Given the description of an element on the screen output the (x, y) to click on. 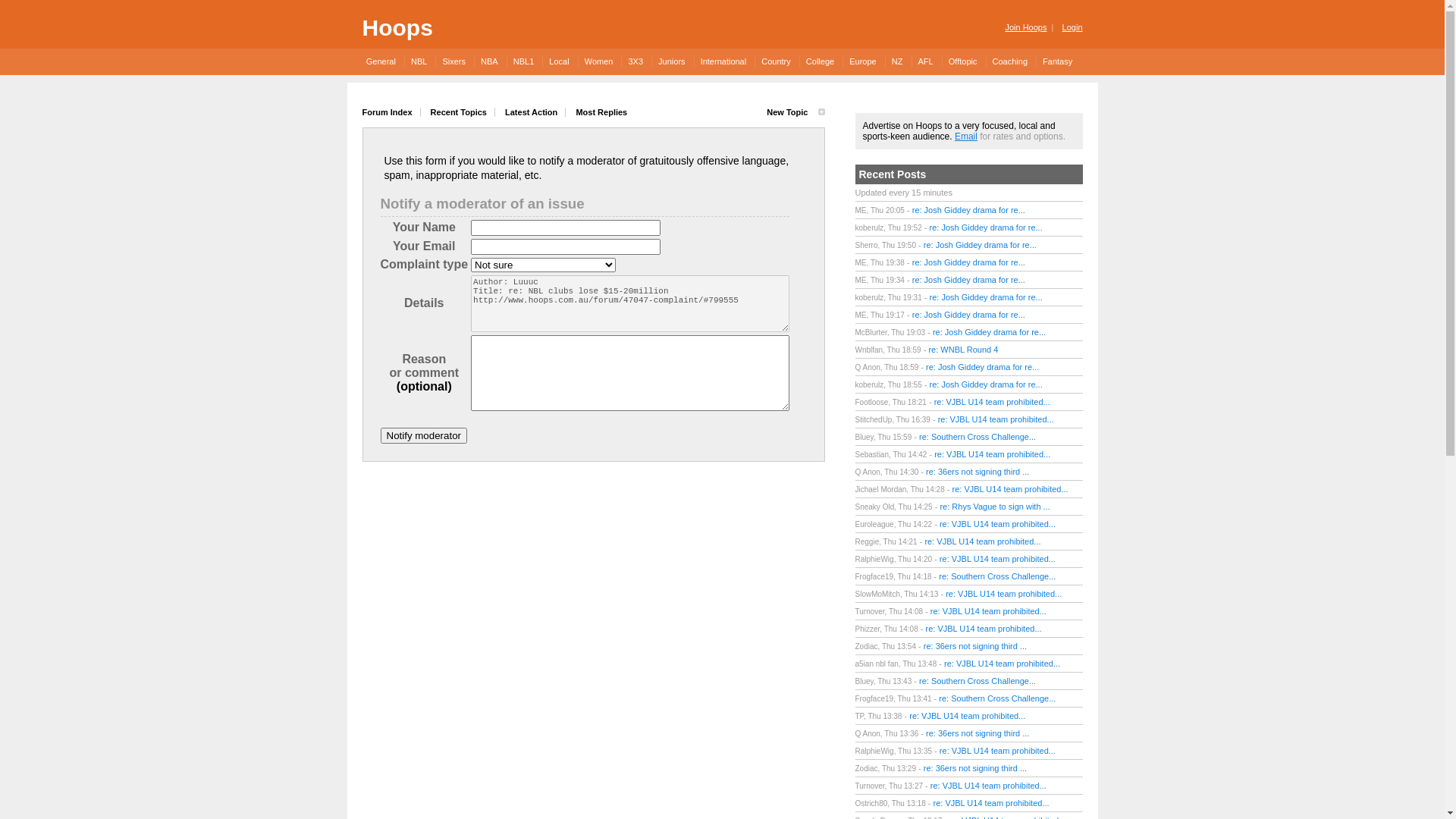
re: Rhys Vague to sign with ... Element type: text (994, 506)
Jichael Mordan Element type: text (880, 489)
Turnover Element type: text (869, 611)
McBlurter Element type: text (871, 332)
re: VJBL U14 team prohibited... Element type: text (997, 750)
ME Element type: text (860, 210)
re: 36ers not signing third ... Element type: text (974, 767)
RalphieWig Element type: text (874, 750)
Sixers Element type: text (453, 61)
koberulz Element type: text (869, 297)
Frogface19 Element type: text (874, 576)
a5ian nbl fan Element type: text (876, 663)
TP Element type: text (859, 716)
NBL Element type: text (418, 61)
Europe Element type: text (861, 61)
re: Josh Giddey drama for re... Element type: text (988, 331)
re: VJBL U14 team prohibited... Element type: text (996, 418)
Login Element type: text (1070, 26)
Hoops Element type: text (397, 27)
re: Josh Giddey drama for re... Element type: text (968, 209)
re: VJBL U14 team prohibited... Element type: text (1003, 593)
re: VJBL U14 team prohibited... Element type: text (1010, 488)
Q Anon Element type: text (867, 367)
re: Southern Cross Challenge... Element type: text (977, 680)
re: Josh Giddey drama for re... Element type: text (968, 261)
Country Element type: text (775, 61)
SlowMoMitch Element type: text (877, 593)
re: VJBL U14 team prohibited... Element type: text (988, 785)
Bluey Element type: text (864, 437)
NBA Element type: text (488, 61)
Bluey Element type: text (864, 681)
re: Josh Giddey drama for re... Element type: text (981, 366)
re: WNBL Round 4 Element type: text (962, 349)
NZ Element type: text (896, 61)
re: Josh Giddey drama for re... Element type: text (985, 296)
Fantasy Element type: text (1056, 61)
Notify moderator Element type: text (423, 435)
re: VJBL U14 team prohibited... Element type: text (992, 401)
Join Hoops Element type: text (1025, 26)
Footloose Element type: text (871, 402)
AFL Element type: text (925, 61)
re: VJBL U14 team prohibited... Element type: text (982, 541)
Wnblfan Element type: text (869, 349)
Euroleague Element type: text (874, 524)
re: VJBL U14 team prohibited... Element type: text (988, 610)
Zodiac Element type: text (866, 768)
Email Element type: text (965, 136)
re: Southern Cross Challenge... Element type: text (996, 575)
Q Anon Element type: text (867, 471)
3X3 Element type: text (635, 61)
re: Josh Giddey drama for re... Element type: text (968, 314)
re: VJBL U14 team prohibited... Element type: text (997, 523)
Forum Index Element type: text (391, 111)
Phizzer Element type: text (867, 628)
re: 36ers not signing third ... Element type: text (974, 645)
re: VJBL U14 team prohibited... Element type: text (967, 715)
re: VJBL U14 team prohibited... Element type: text (983, 628)
re: 36ers not signing third ... Element type: text (977, 471)
re: 36ers not signing third ... Element type: text (977, 732)
Turnover Element type: text (869, 785)
Q Anon Element type: text (867, 733)
Sneaky Old Element type: text (874, 506)
ME Element type: text (860, 280)
Offtopic Element type: text (962, 61)
re: Josh Giddey drama for re... Element type: text (985, 384)
Most Replies Element type: text (597, 111)
re: Josh Giddey drama for re... Element type: text (968, 279)
Coaching Element type: text (1009, 61)
General Element type: text (383, 61)
Latest Action Element type: text (531, 111)
Frogface19 Element type: text (874, 698)
re: VJBL U14 team prohibited... Element type: text (1002, 663)
Zodiac Element type: text (866, 646)
ME Element type: text (860, 314)
Recent Topics Element type: text (459, 111)
ME Element type: text (860, 262)
College Element type: text (819, 61)
re: VJBL U14 team prohibited... Element type: text (997, 558)
RalphieWig Element type: text (874, 559)
New Topic Element type: text (791, 111)
NBL1 Element type: text (523, 61)
International Element type: text (723, 61)
koberulz Element type: text (869, 227)
StitchedUp Element type: text (873, 419)
Ostrich80 Element type: text (871, 803)
re: Southern Cross Challenge... Element type: text (996, 697)
Women Element type: text (598, 61)
re: Southern Cross Challenge... Element type: text (977, 436)
re: Josh Giddey drama for re... Element type: text (979, 244)
Sherro Element type: text (866, 245)
re: VJBL U14 team prohibited... Element type: text (991, 802)
koberulz Element type: text (869, 384)
re: VJBL U14 team prohibited... Element type: text (992, 453)
Local Element type: text (558, 61)
re: Josh Giddey drama for re... Element type: text (985, 227)
Sebastian Element type: text (871, 454)
Juniors Element type: text (670, 61)
Reggie Element type: text (867, 541)
